Given the description of an element on the screen output the (x, y) to click on. 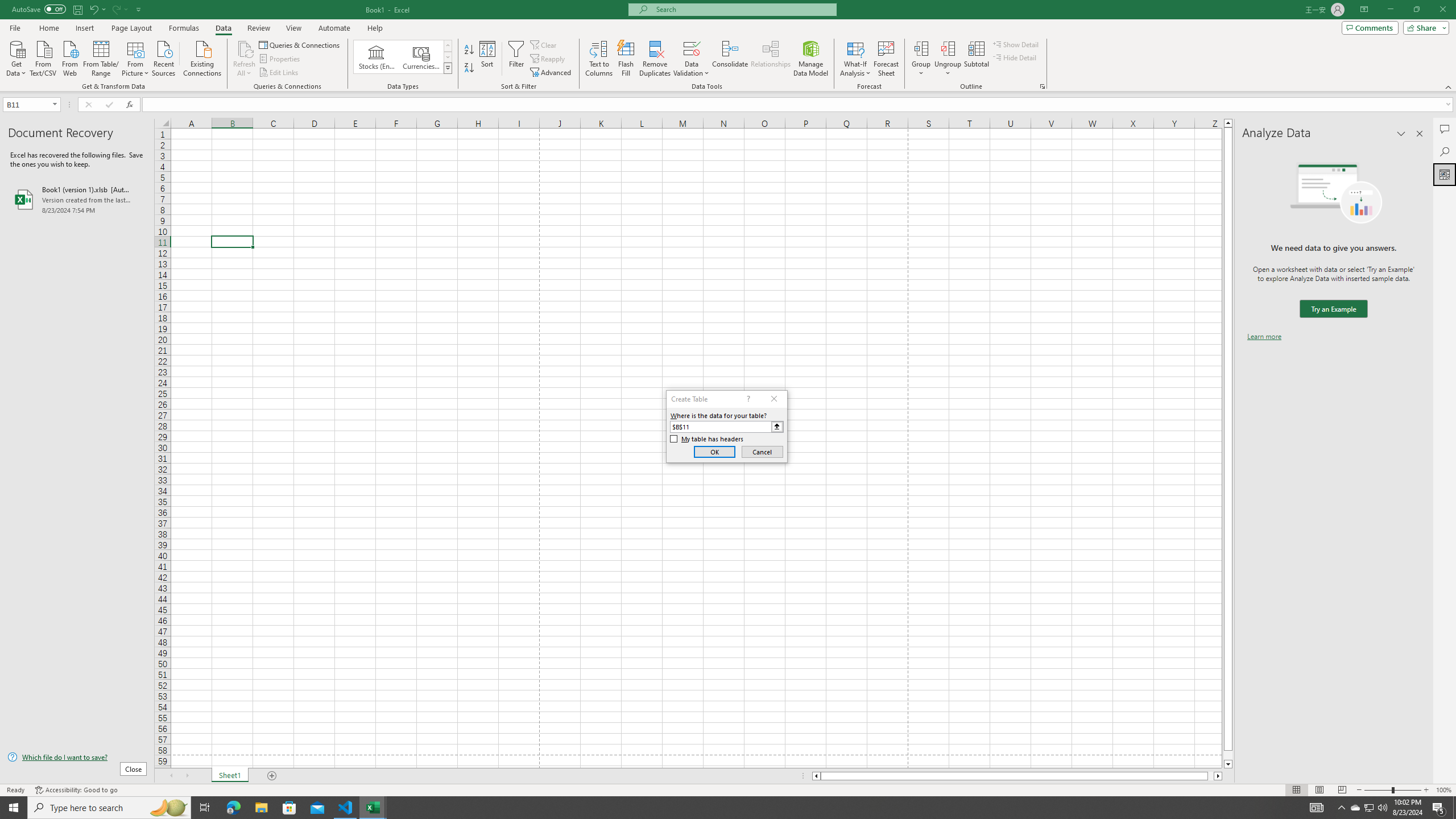
Subtotal (976, 58)
Queries & Connections (300, 44)
Close pane (1419, 133)
AutomationID: ConvertToLinkedEntity (403, 56)
Stocks (English) (375, 56)
We need data to give you answers. Try an Example (1333, 308)
Analyze Data (1444, 173)
Sort... (487, 58)
